Given the description of an element on the screen output the (x, y) to click on. 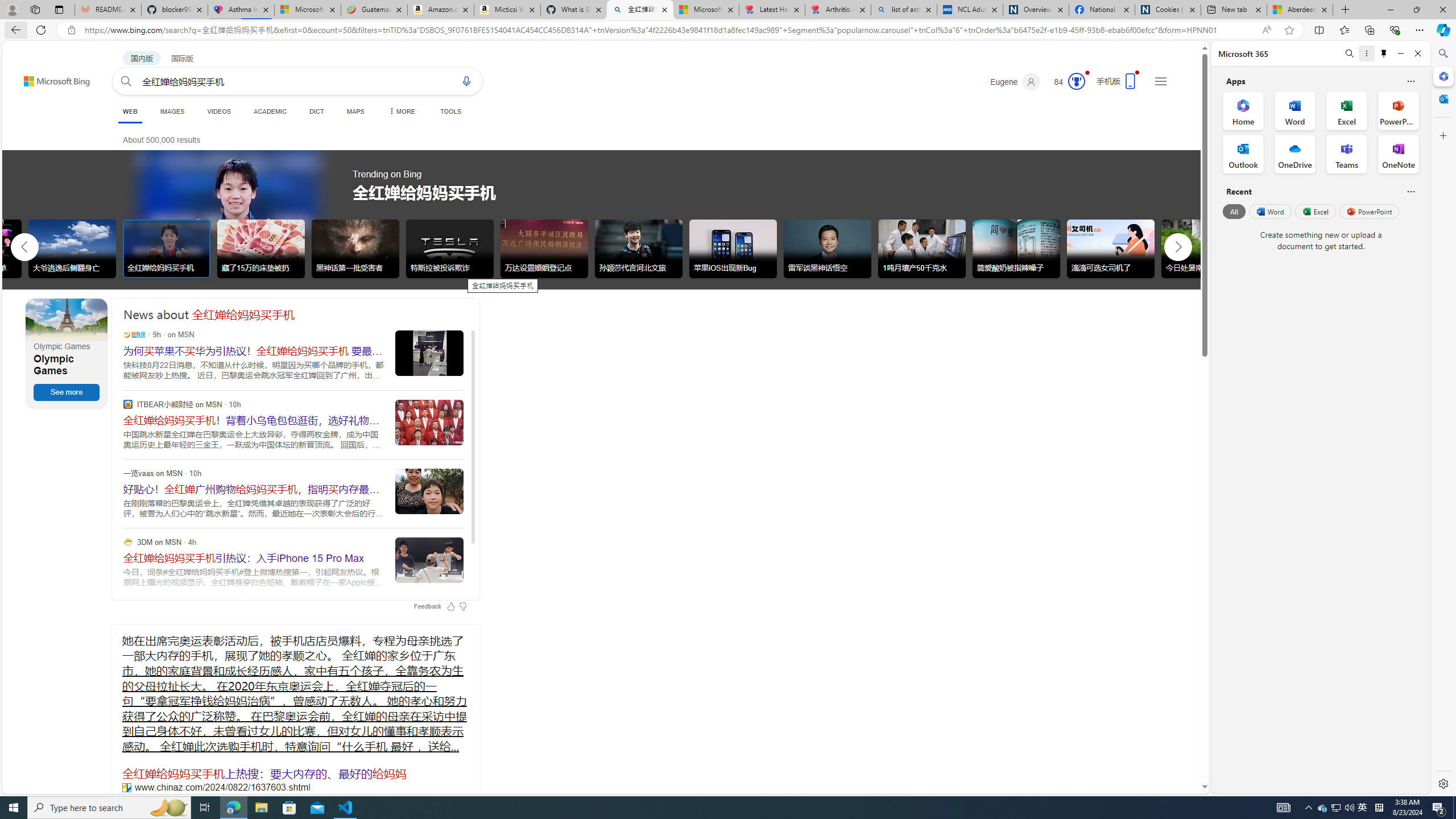
ACADEMIC (269, 111)
Is this helpful? (1410, 191)
Click to scroll left (25, 246)
VIDEOS (218, 111)
ACADEMIC (269, 111)
